Given the description of an element on the screen output the (x, y) to click on. 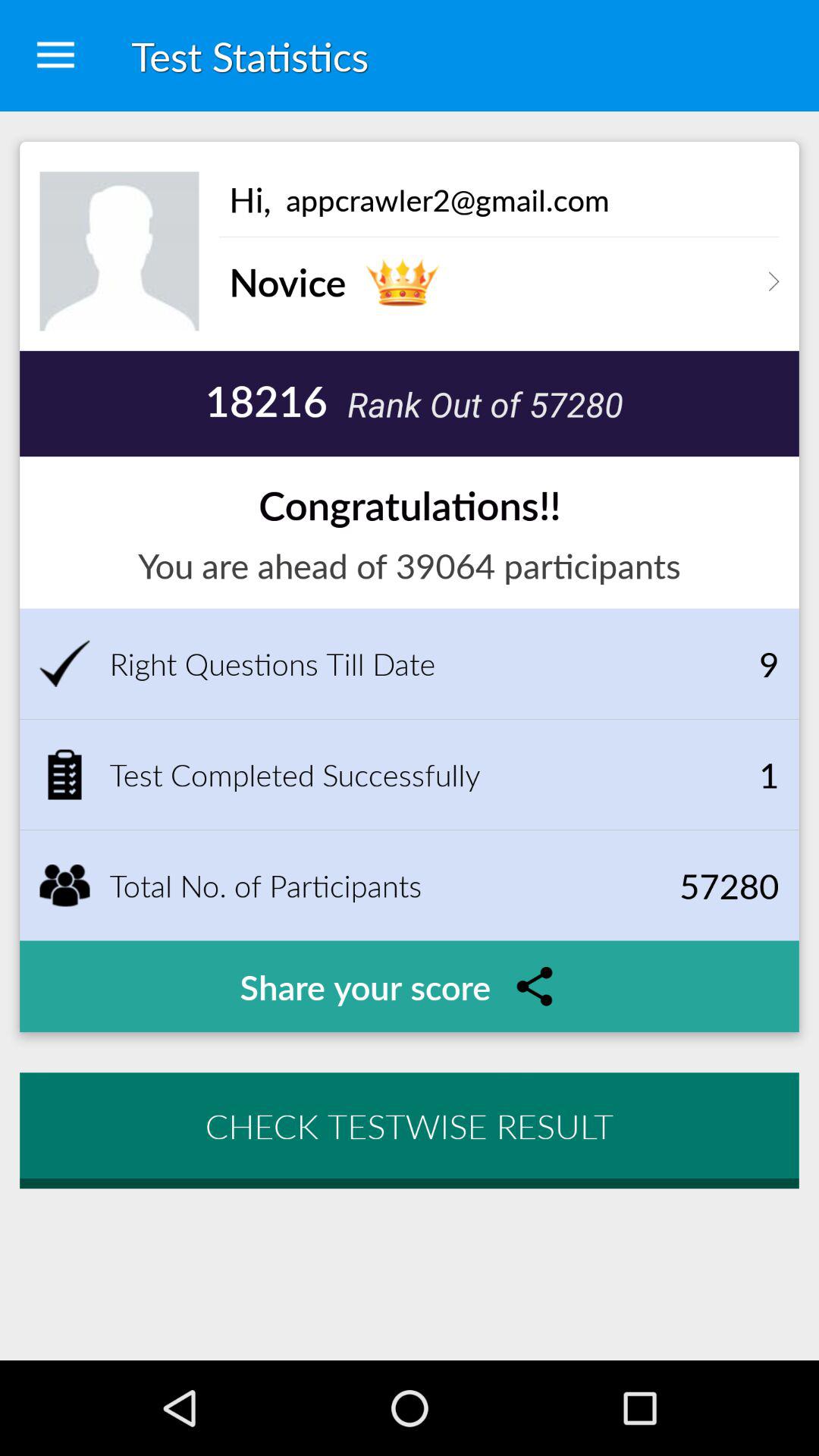
launch item next to test statistics (55, 55)
